Given the description of an element on the screen output the (x, y) to click on. 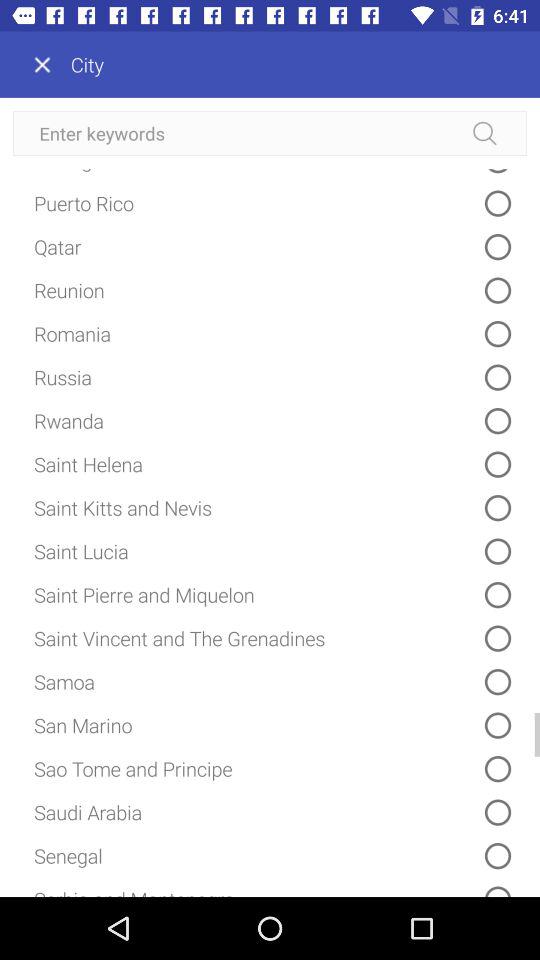
enter keywords (269, 133)
